Given the description of an element on the screen output the (x, y) to click on. 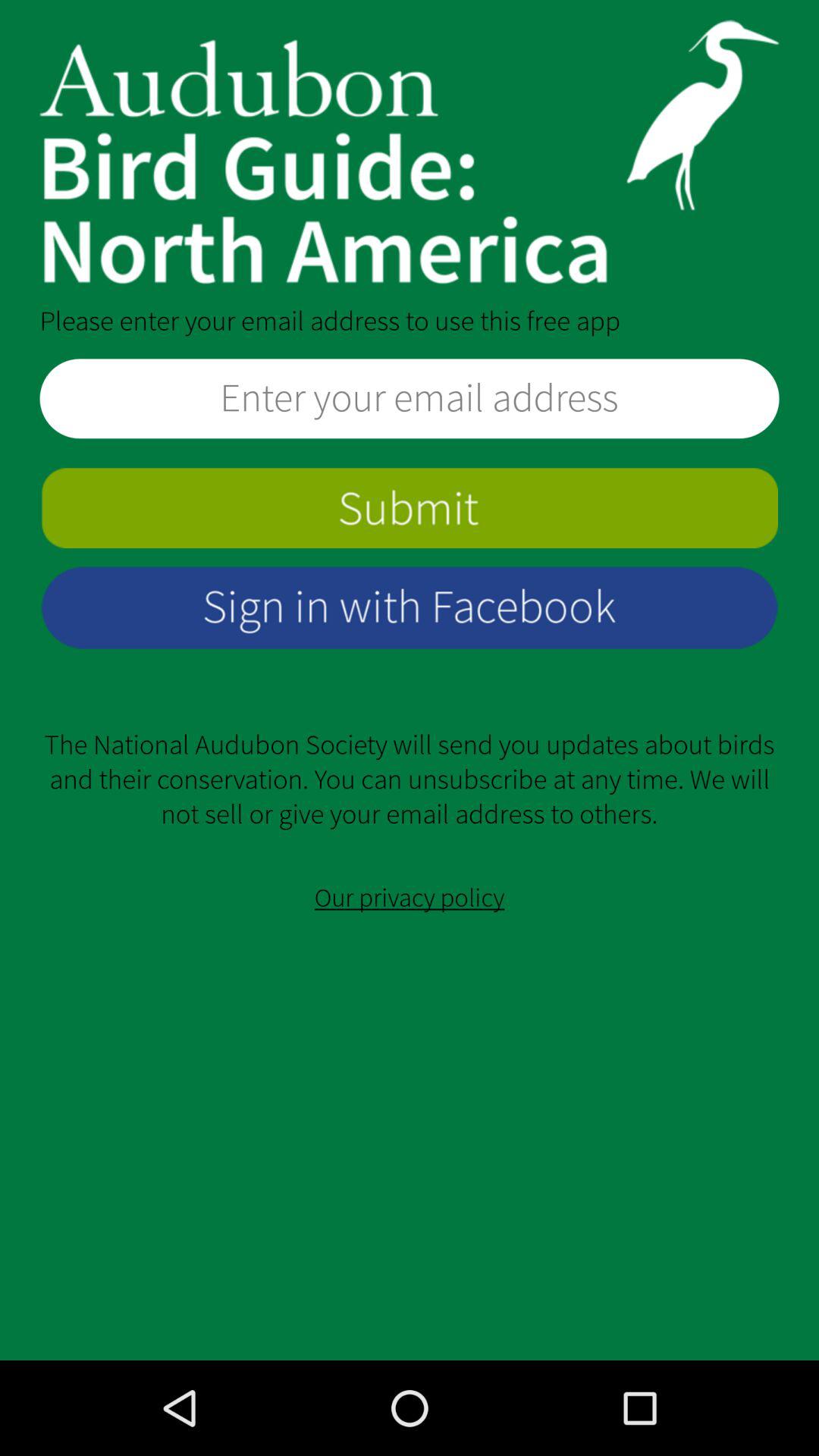
allows you to enter your e-mail (409, 398)
